Given the description of an element on the screen output the (x, y) to click on. 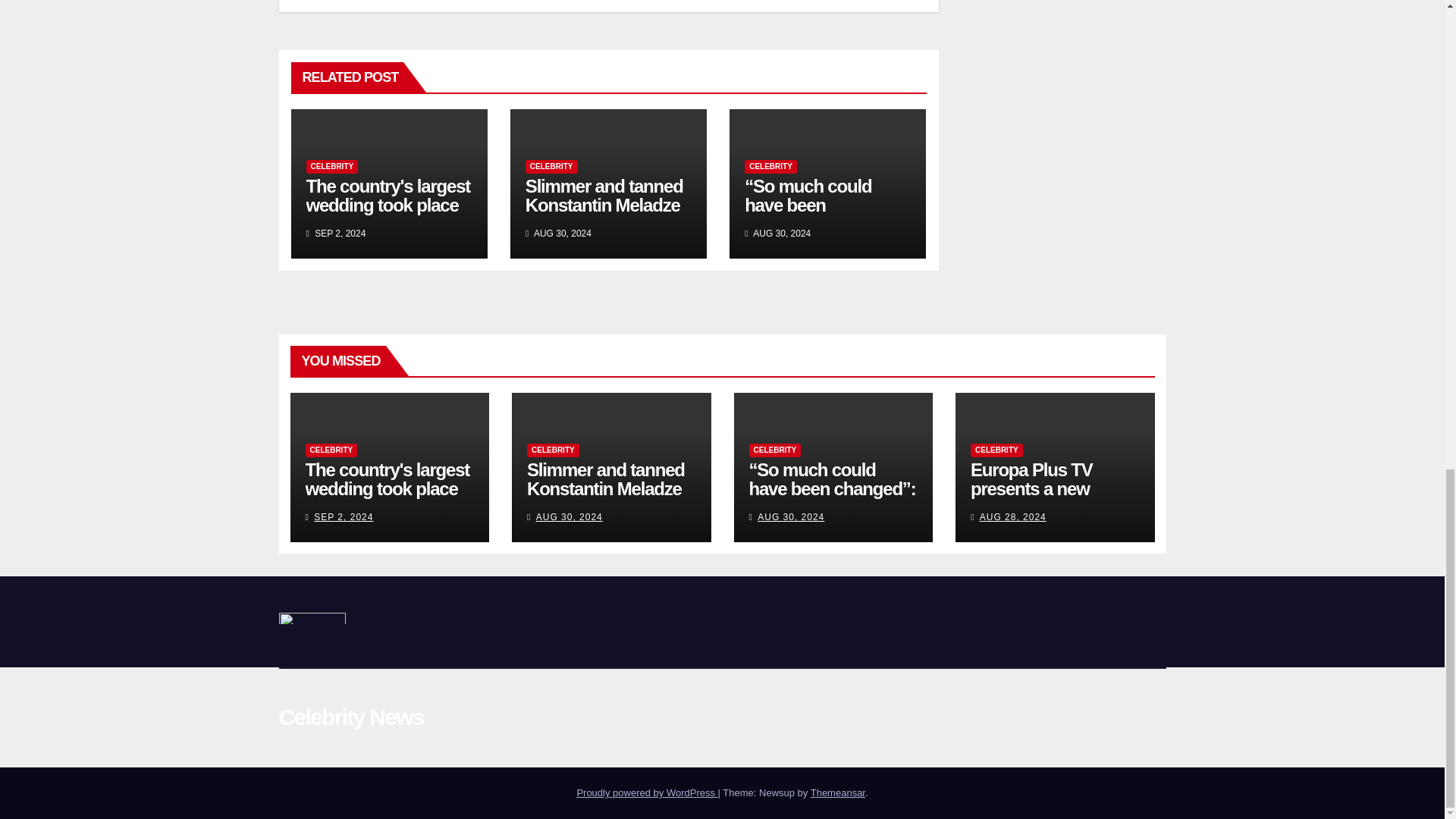
SEP 2, 2024 (343, 516)
The country's largest wedding took place in Moscow (386, 488)
CELEBRITY (553, 450)
CELEBRITY (331, 166)
CELEBRITY (330, 450)
